Given the description of an element on the screen output the (x, y) to click on. 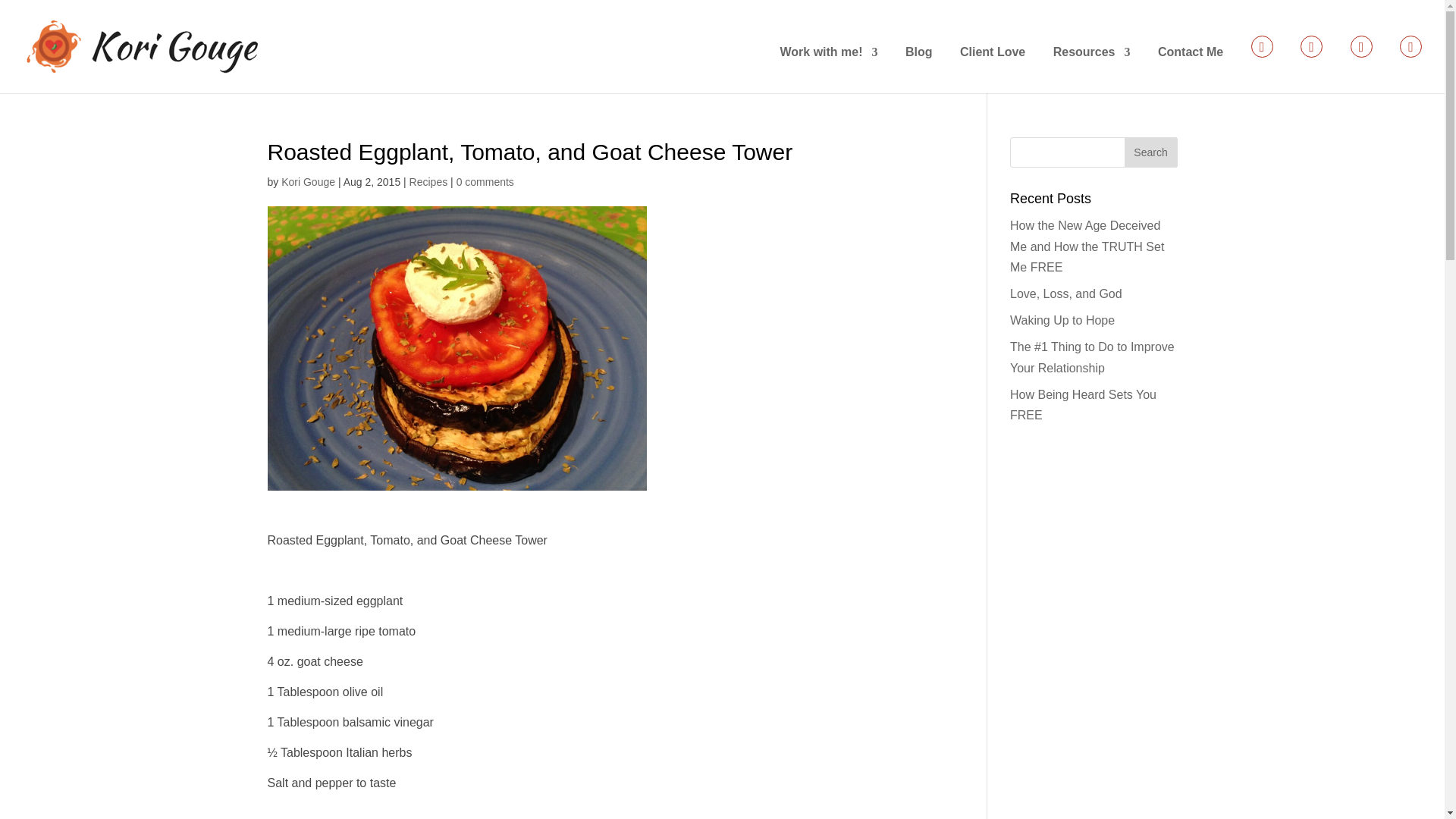
Search (1150, 152)
Resources (1091, 69)
How the New Age Deceived Me and How the TRUTH Set Me FREE (1086, 245)
Waking Up to Hope (1062, 319)
Search (1150, 152)
Work with me! (827, 69)
Love, Loss, and God (1066, 293)
Recipes (428, 182)
Client Love (992, 69)
Kori Gouge (307, 182)
